Given the description of an element on the screen output the (x, y) to click on. 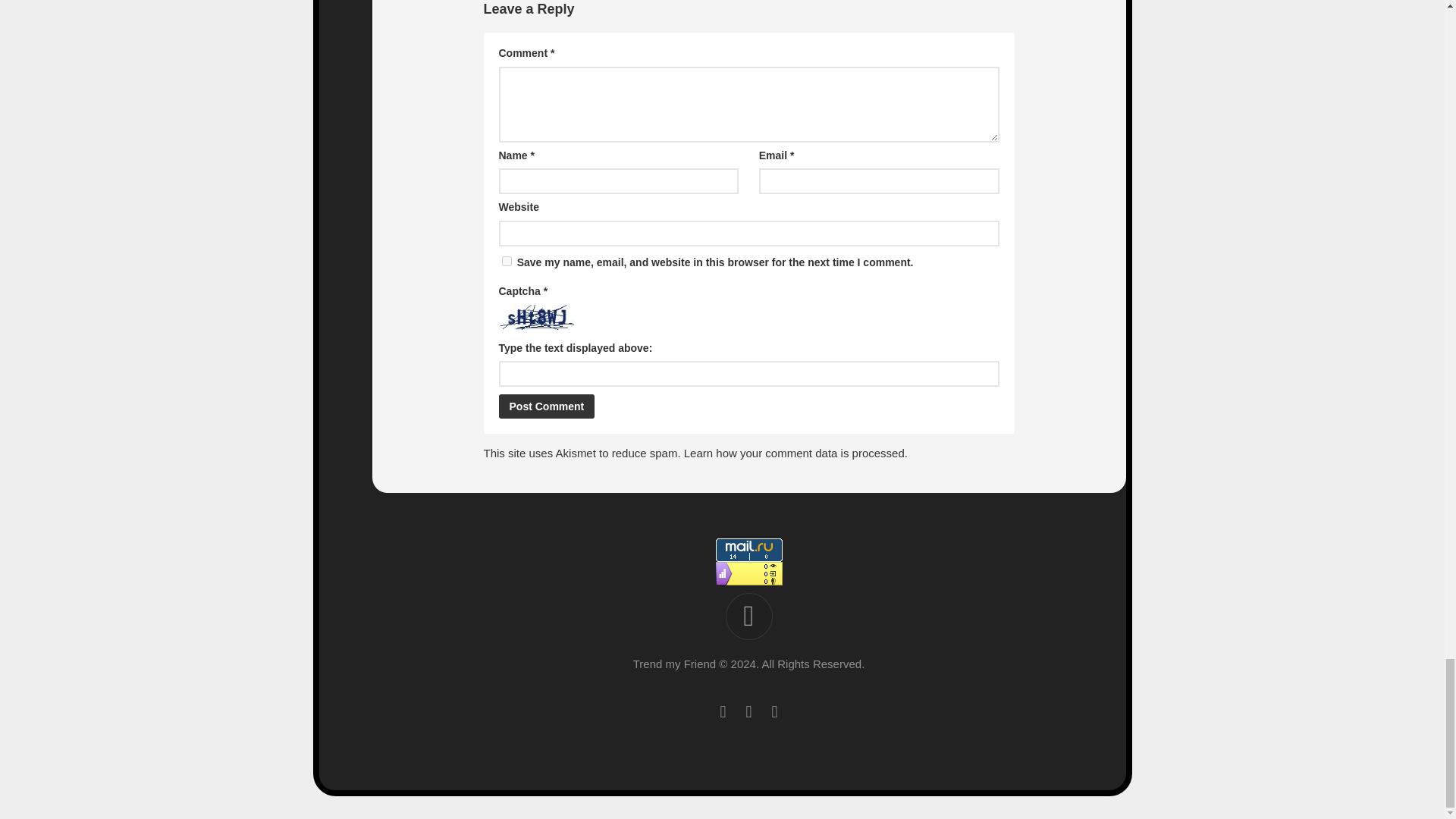
Twitter (748, 711)
Post Comment (547, 405)
Instagram (774, 711)
yes (507, 261)
youtube (722, 711)
